Given the description of an element on the screen output the (x, y) to click on. 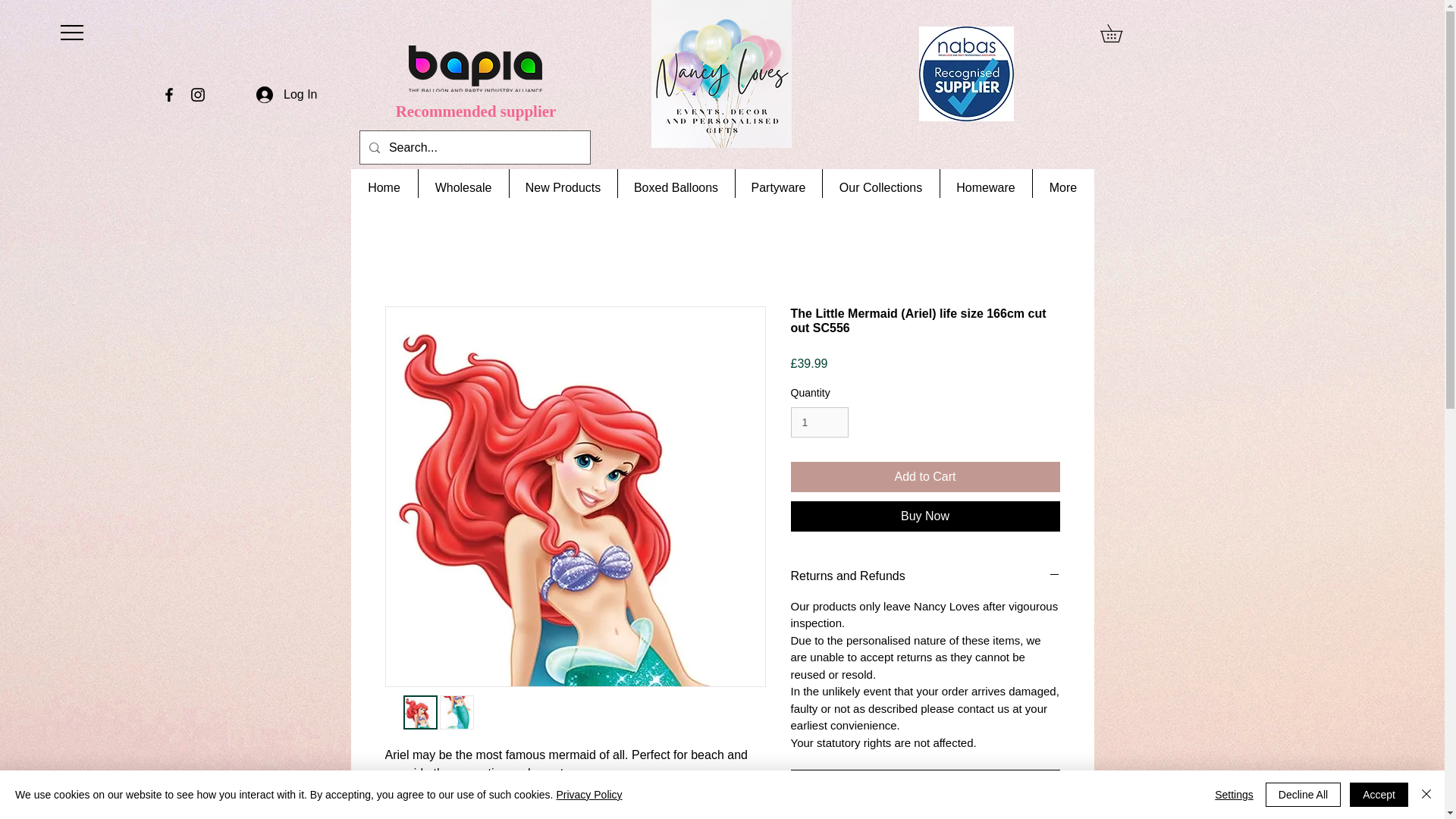
New Products (561, 187)
1 (818, 422)
Boxed Balloons (676, 187)
Partyware (777, 187)
Log In (286, 94)
Wholesale (462, 187)
Our Collections (880, 187)
Homeware (984, 187)
Home (383, 187)
